Given the description of an element on the screen output the (x, y) to click on. 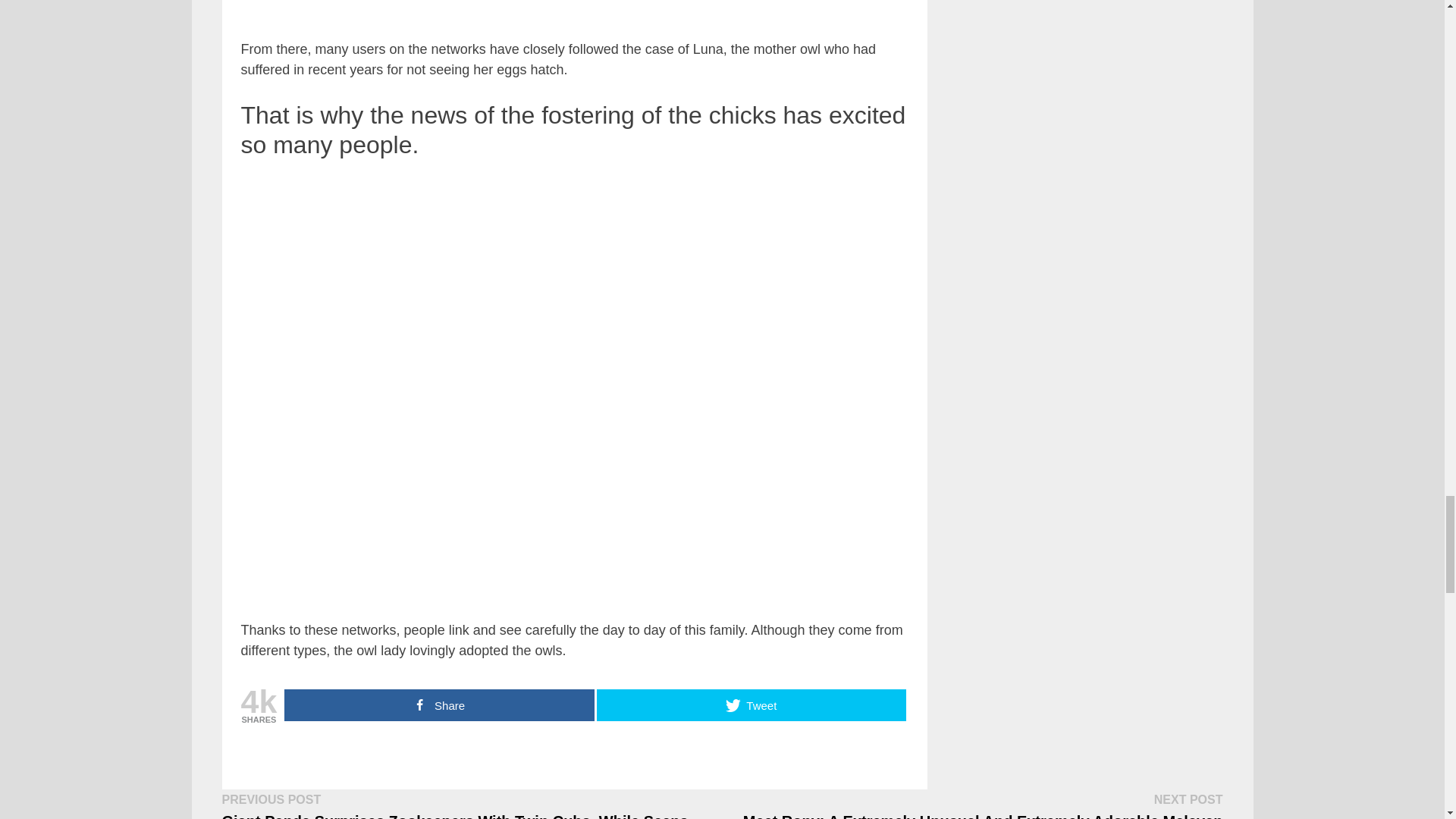
Share (438, 705)
Tweet (750, 705)
